Given the description of an element on the screen output the (x, y) to click on. 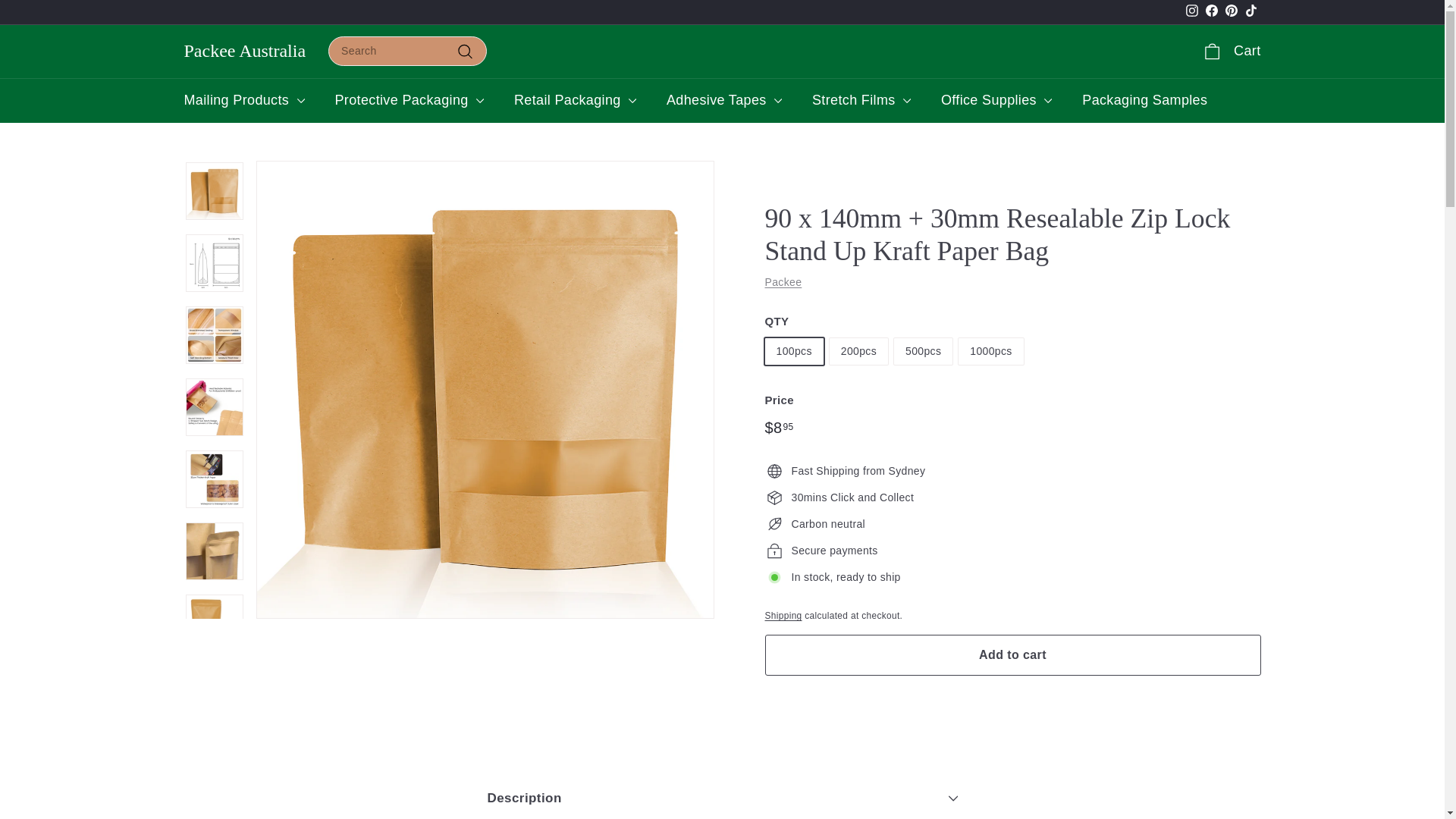
TikTok (1250, 12)
Cart (1190, 12)
Packee Australia on TikTok (1230, 51)
Packee Australia on Pinterest (1250, 12)
Packee Australia (1230, 12)
instagram (244, 51)
1000pcs (1192, 10)
Packee Australia on Facebook (1190, 12)
Packee (1211, 12)
100pcs (783, 282)
200pcs (1230, 12)
